Given the description of an element on the screen output the (x, y) to click on. 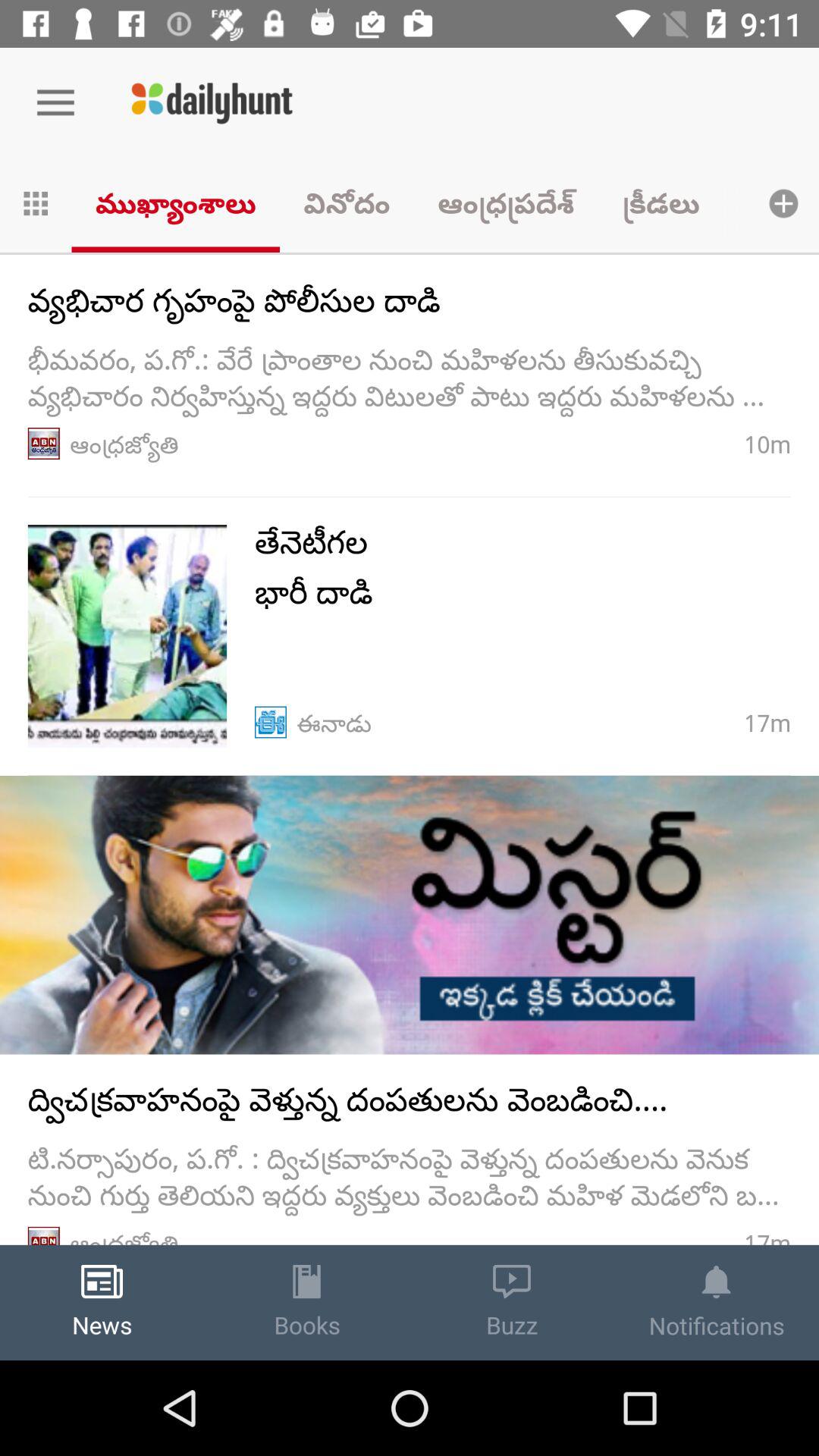
click on icon above books (306, 1281)
